Given the description of an element on the screen output the (x, y) to click on. 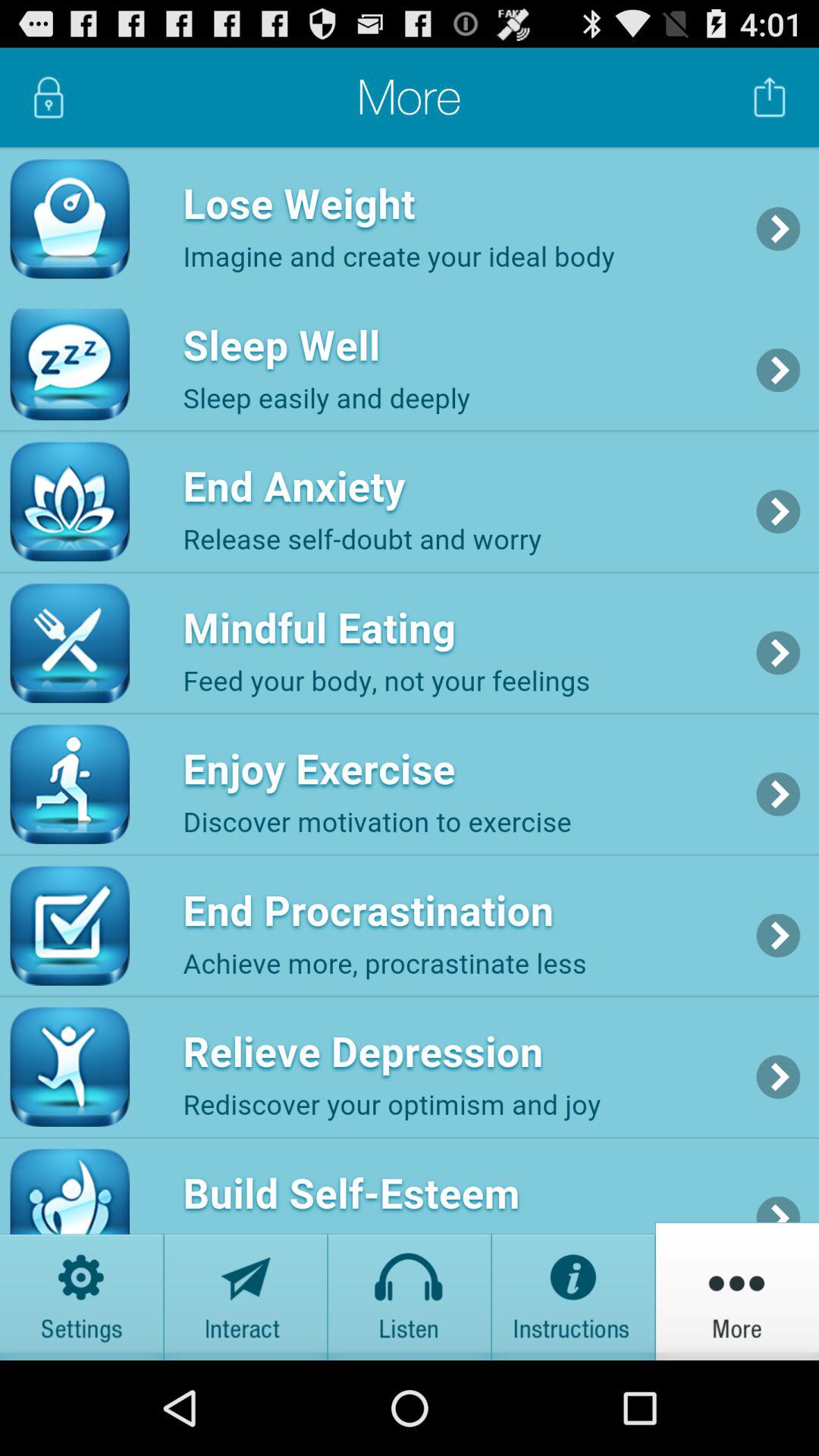
click for view (573, 1290)
